Given the description of an element on the screen output the (x, y) to click on. 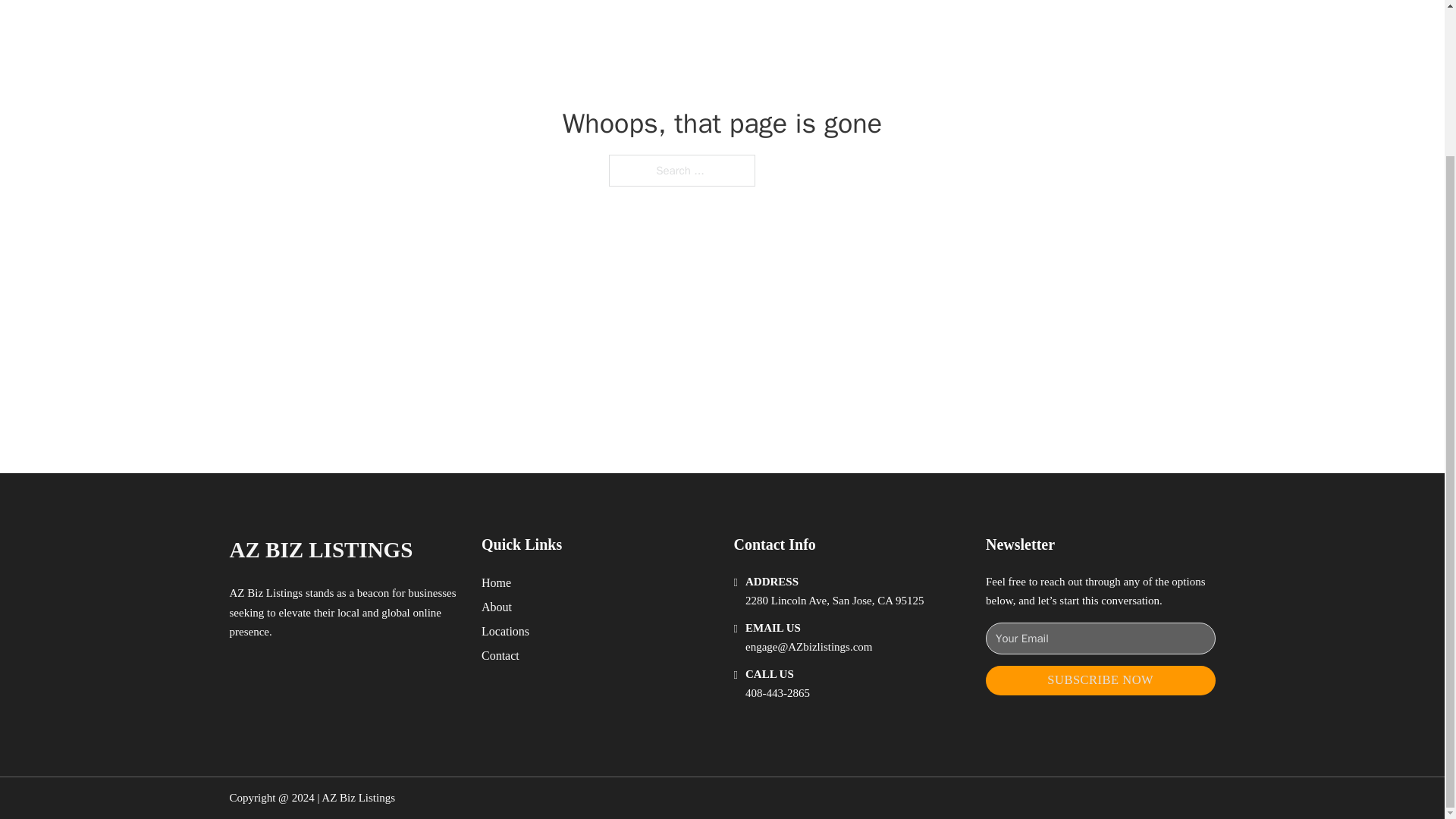
Locations (505, 630)
Home (496, 582)
About (496, 607)
AZ BIZ LISTINGS (320, 549)
Contact (500, 655)
408-443-2865 (777, 693)
SUBSCRIBE NOW (1100, 680)
